Given the description of an element on the screen output the (x, y) to click on. 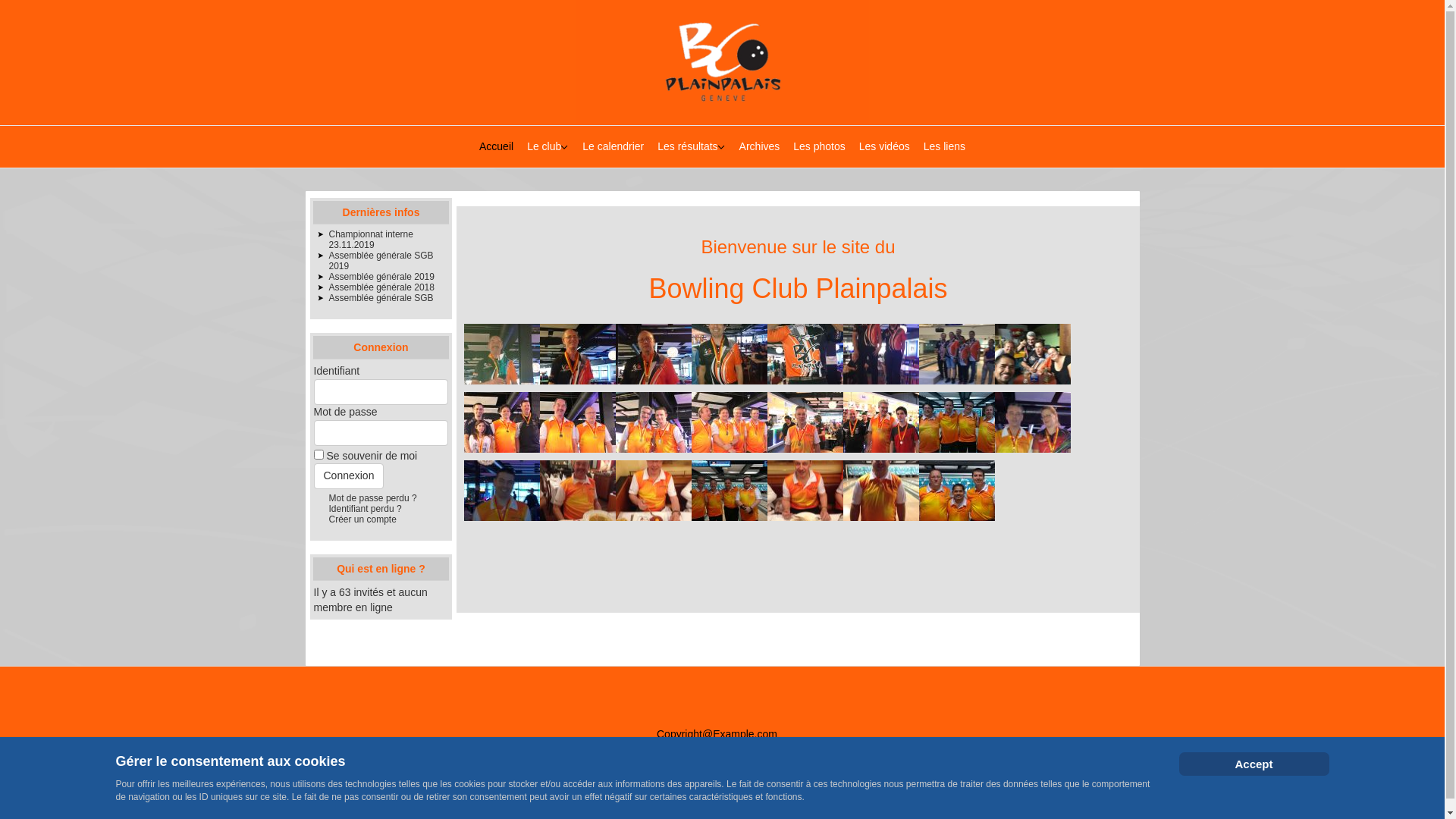
Accueil Element type: text (496, 146)
You are viewing the image with filename IMG_4003.jpg Element type: hover (501, 422)
You are viewing the image with filename u19.jpg Element type: hover (653, 490)
You are viewing the image with filename IMG_4052.jpg Element type: hover (729, 422)
Les photos Element type: text (819, 146)
You are viewing the image with filename u0.jpg Element type: hover (956, 422)
Identifiant perdu ? Element type: text (365, 508)
You are viewing the image with filename u4.jpg Element type: hover (956, 490)
Le calendrier Element type: text (612, 146)
You are viewing the image with filename u20.jpg Element type: hover (805, 490)
Le club Element type: text (547, 146)
Mot de passe perdu ? Element type: text (373, 497)
You are viewing the image with filename u2.jpg Element type: hover (729, 490)
You are viewing the image with filename u3.jpg Element type: hover (881, 490)
You are viewing the image with filename IMG_4038.jpg Element type: hover (653, 422)
Archives Element type: text (759, 146)
You are viewing the image with filename u17.jpg Element type: hover (577, 490)
Accept Element type: text (1253, 763)
Connexion Element type: text (348, 476)
Copyright@Example.com Element type: text (716, 734)
You are viewing the image with filename IMG_4027.jpg Element type: hover (577, 422)
You are viewing the image with filename IMG_4076.jpg Element type: hover (805, 422)
Joomla Template Element type: text (645, 749)
You are viewing the image with filename IMG_4097.jpg Element type: hover (881, 422)
You are viewing the image with filename u14.jpg Element type: hover (501, 490)
You are viewing the image with filename u10.jpg Element type: hover (1032, 422)
Championnat interne 23.11.2019 Element type: text (371, 239)
Les liens Element type: text (944, 146)
